Given the description of an element on the screen output the (x, y) to click on. 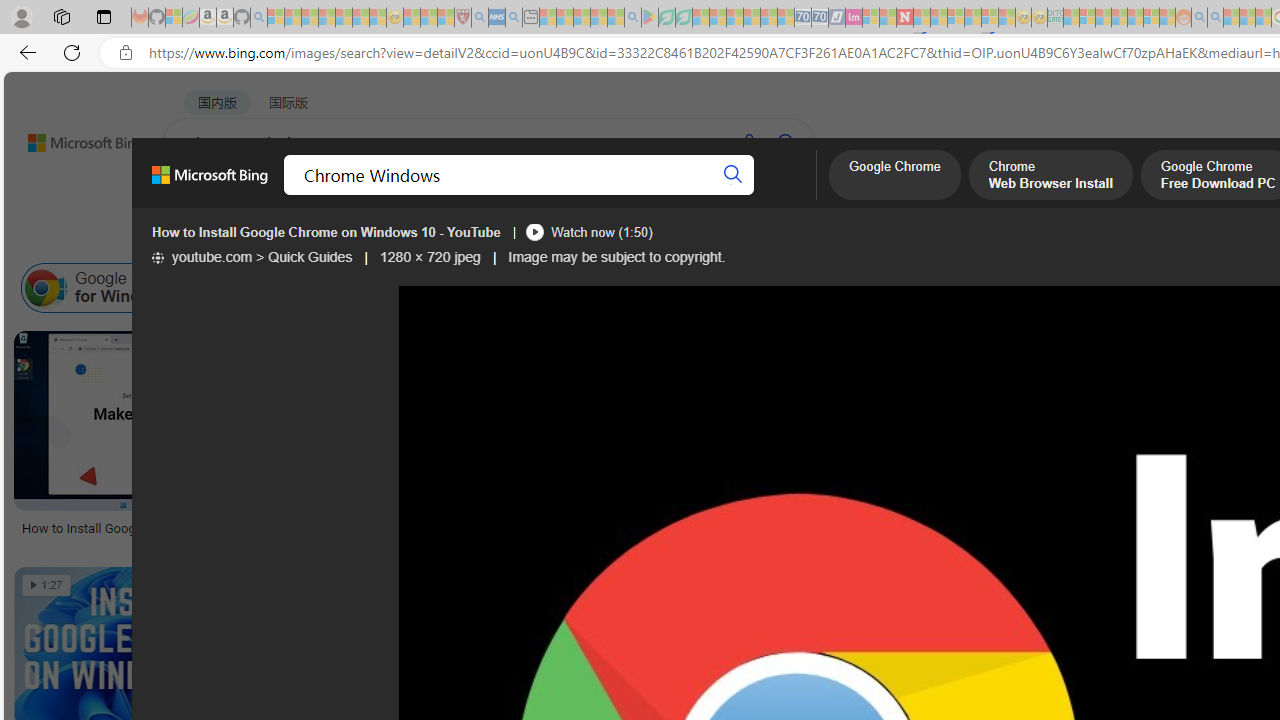
Latest Politics News & Archive | Newsweek.com - Sleeping (904, 17)
DICT (717, 195)
Search using voice (748, 142)
list of asthma inhalers uk - Search - Sleeping (479, 17)
How to Install Google Chrome on Windows 11 (202, 528)
License (665, 237)
People (521, 237)
Back to Bing search (73, 138)
Microsoft account | Privacy - Sleeping (1087, 17)
How to Install Google Chrome on Windows 10 - YouTube (325, 232)
Installing Chrome On Windows 8: Everything You Need To Know (941, 528)
Installing Chrome On Windows 8: Everything You Need To Know (916, 528)
